Given the description of an element on the screen output the (x, y) to click on. 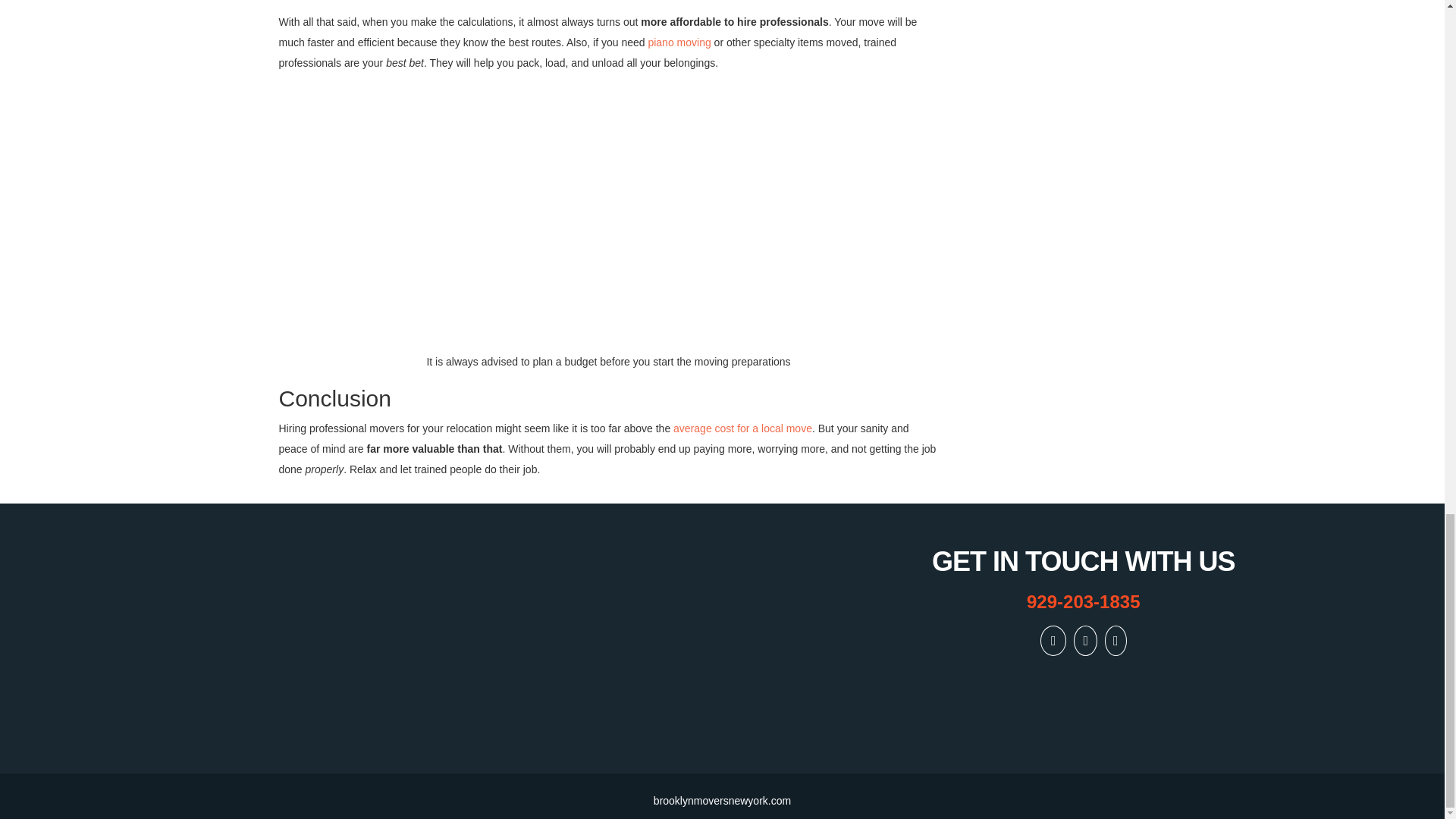
piano moving (678, 42)
average cost for a local move (742, 428)
929-203-1835 (1083, 601)
